Given the description of an element on the screen output the (x, y) to click on. 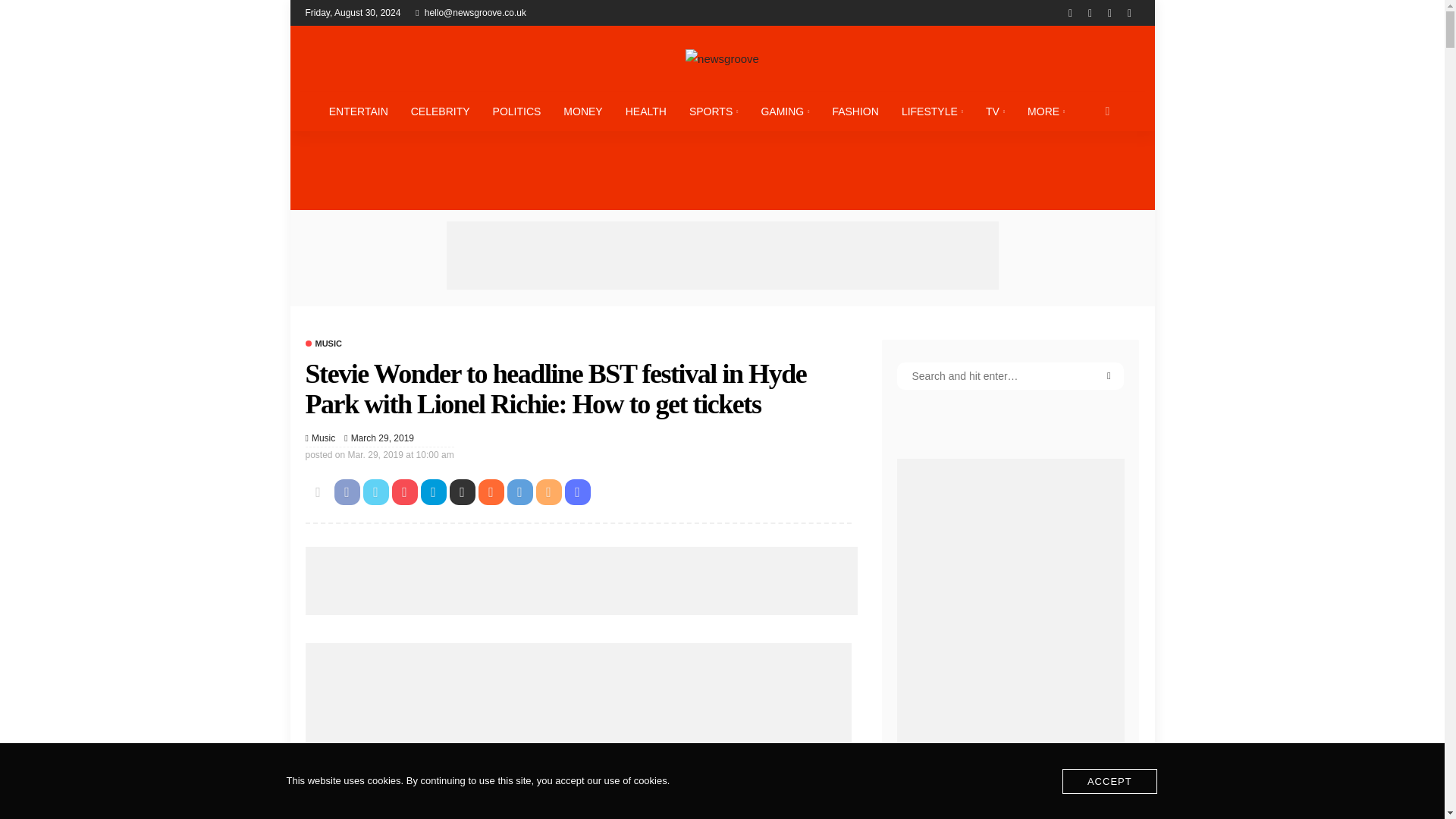
search (1106, 111)
GAMING (785, 111)
ENTERTAIN (357, 111)
CELEBRITY (439, 111)
HEALTH (646, 111)
Music (322, 343)
MONEY (581, 111)
NewsGroove Uk (721, 58)
POLITICS (517, 111)
SPORTS (713, 111)
